Given the description of an element on the screen output the (x, y) to click on. 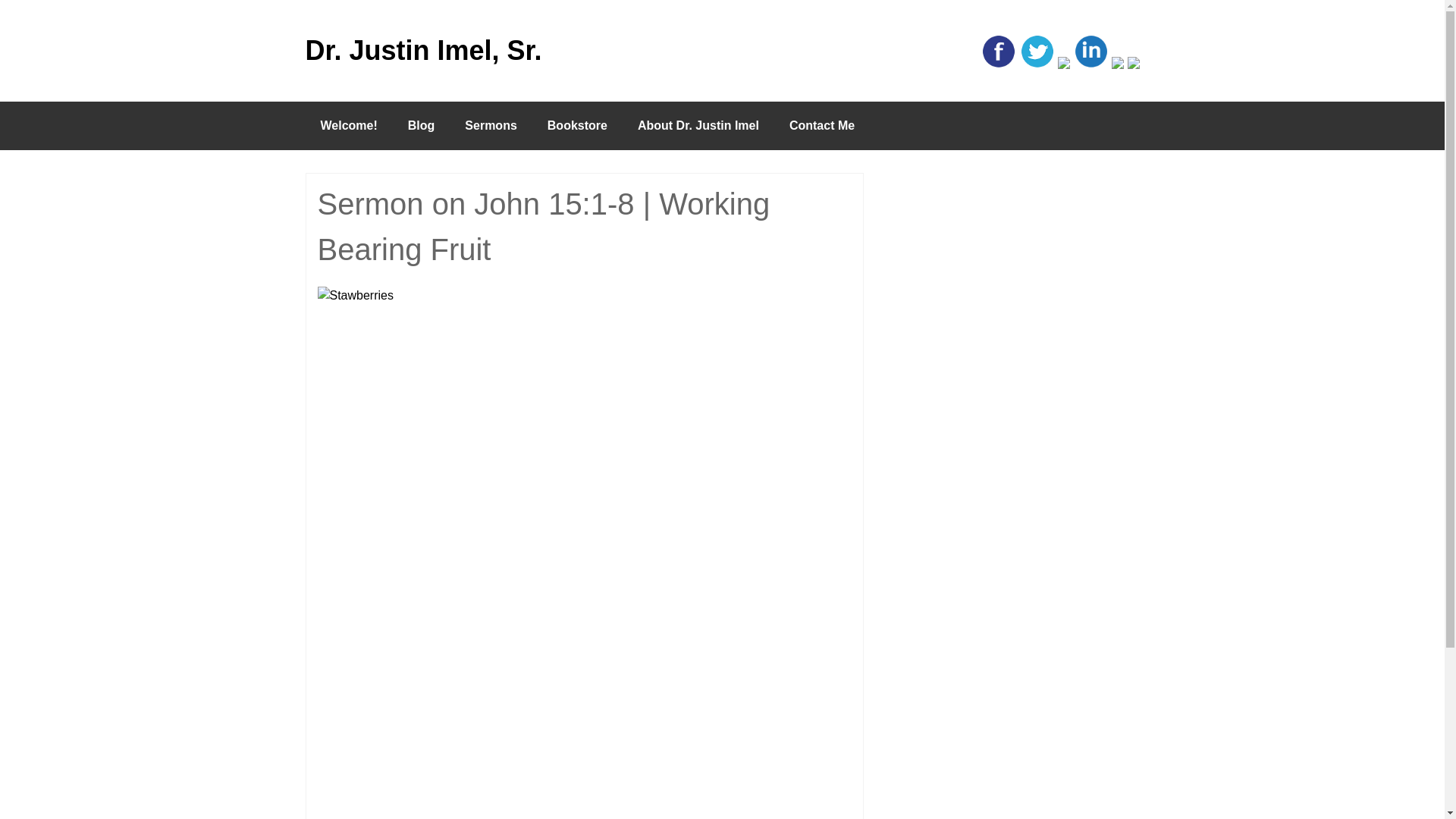
About Dr. Justin Imel (698, 125)
Bookstore (577, 125)
RSS Feed (1132, 64)
Contact Me (821, 125)
Dr. Justin Imel, Sr. (471, 50)
Twitter (1037, 64)
Linked In (1091, 64)
Pinterest (1064, 64)
Sermons (490, 125)
Blog (421, 125)
YouTube (1118, 64)
Welcome! (347, 125)
Dr. Justin Imel, Sr. (471, 50)
Facebook (998, 64)
